Given the description of an element on the screen output the (x, y) to click on. 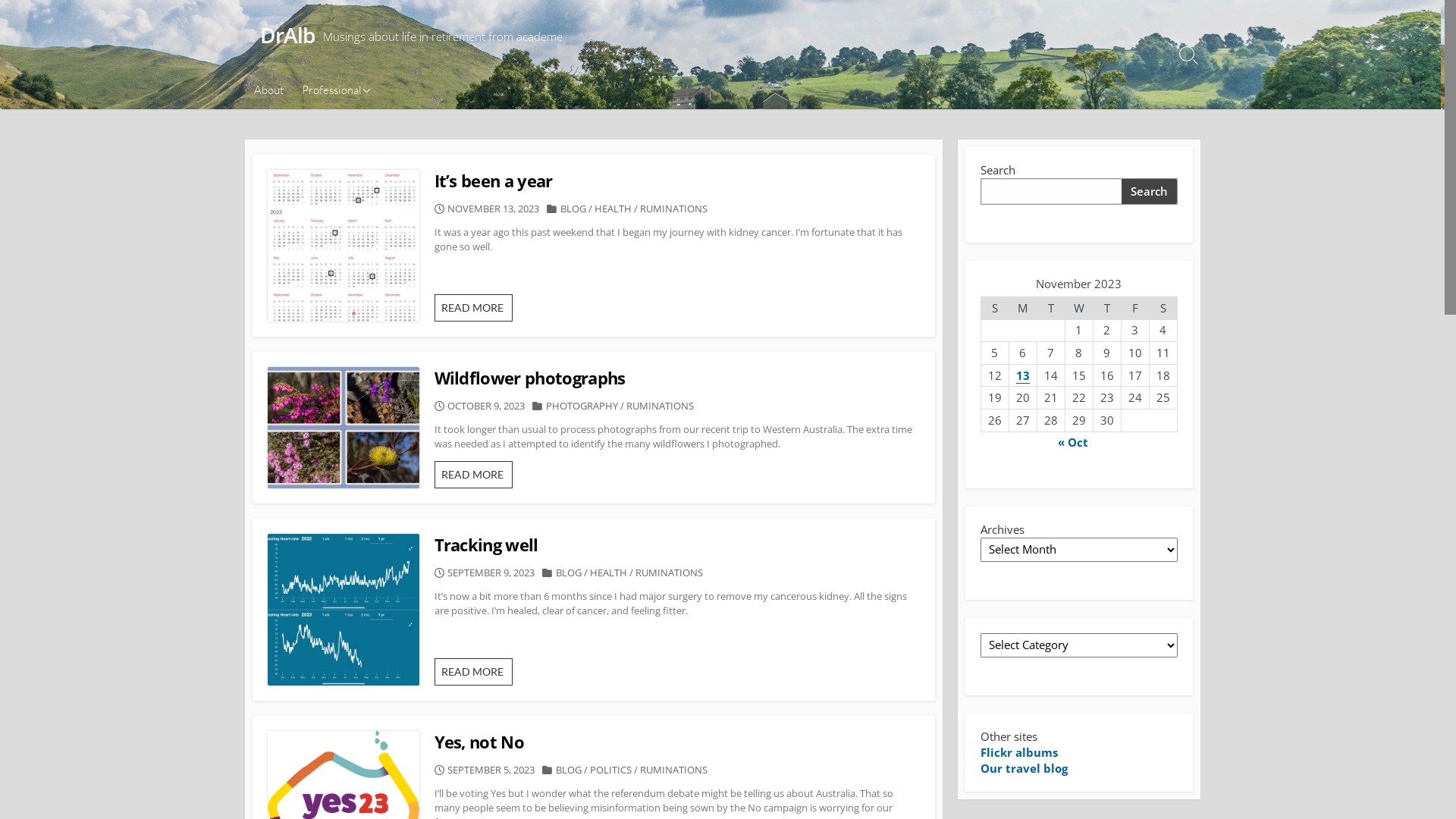
Research supervisions Element type: text (368, 157)
RUMINATIONS Element type: text (673, 769)
Tracking well Element type: text (676, 544)
RUMINATIONS Element type: text (673, 208)
Flickr albums Element type: text (1018, 751)
BLOG Element type: text (568, 769)
HEALTH Element type: text (608, 572)
13 Element type: text (1022, 374)
Our travel blog Element type: text (1022, 767)
Yes, not No Element type: text (676, 742)
DrAlb Element type: text (286, 35)
RUMINATIONS Element type: text (659, 405)
PHOTOGRAPHY Element type: text (582, 405)
BLOG Element type: text (573, 208)
Publications Element type: text (368, 130)
Search Element type: text (1148, 190)
READ MORE
Tracking well Element type: text (472, 671)
About Element type: text (267, 90)
Search Toggle Element type: text (1188, 54)
Qualifications & Experience Element type: text (368, 95)
Wildflower photographs Element type: text (676, 378)
BLOG Element type: text (568, 572)
RUMINATIONS Element type: text (668, 572)
READ MORE
Wildflower photographs Element type: text (472, 474)
Professional Element type: text (334, 90)
POLITICS Element type: text (610, 769)
HEALTH Element type: text (612, 208)
